Given the description of an element on the screen output the (x, y) to click on. 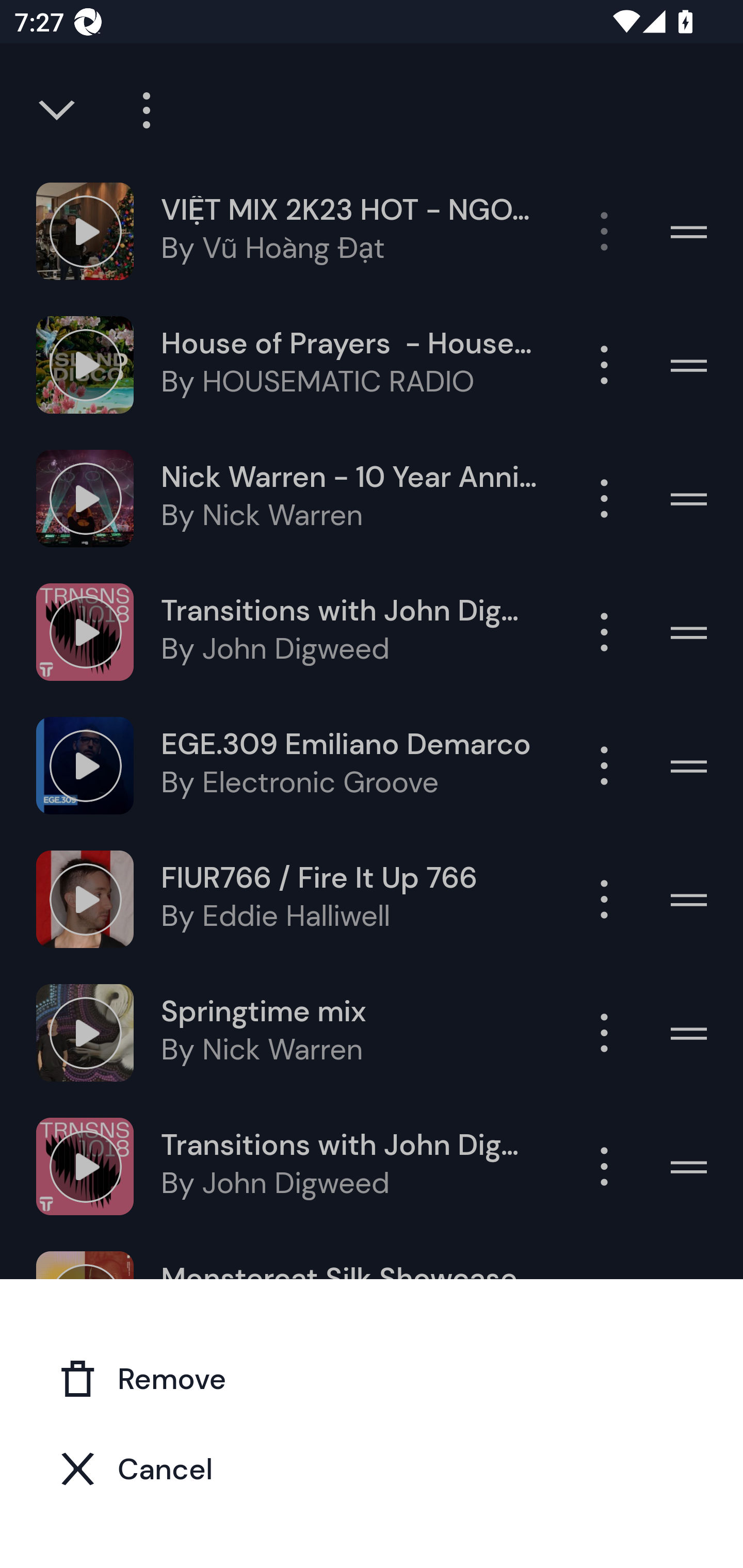
Closes the queue (58, 110)
Queue more options button (139, 110)
Show options button (604, 230)
Show options button (604, 364)
Show options button (604, 498)
Show options button (604, 631)
Show options button (604, 764)
Show options button (604, 898)
Show options button (604, 1032)
Show options button (604, 1166)
Remove (371, 1377)
Cancel (371, 1468)
